Given the description of an element on the screen output the (x, y) to click on. 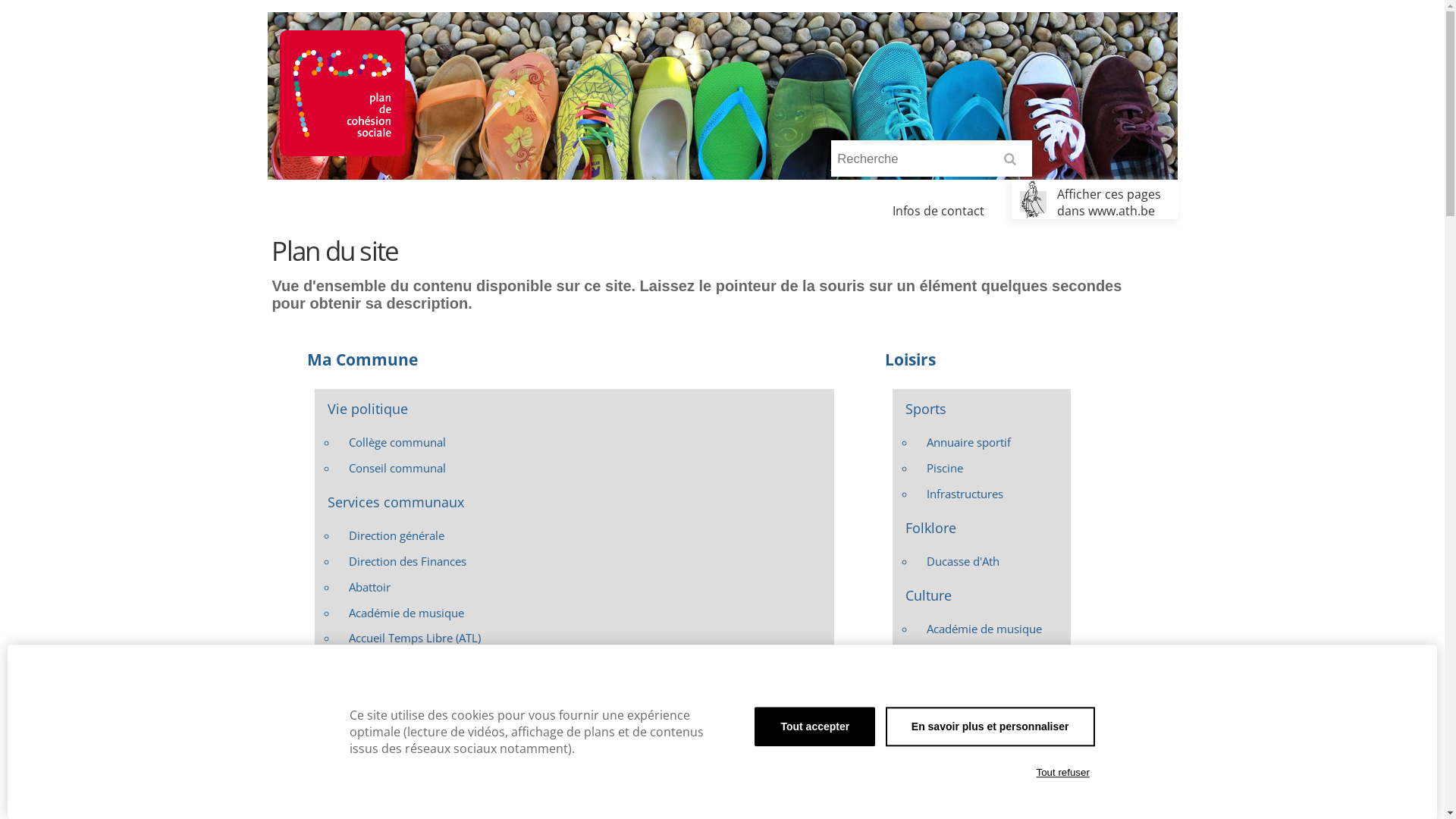
Accueil Temps Libre (ATL) Element type: text (585, 638)
Tout accepter Element type: text (814, 726)
Piscine Element type: text (992, 467)
Ducasse d'Ath Element type: text (992, 560)
Abattoir Element type: text (585, 586)
Annuaire sportif Element type: text (992, 442)
Folklore Element type: text (980, 527)
En savoir plus et personnaliser Element type: text (990, 726)
Culture Element type: text (980, 594)
Infos de contact Element type: text (938, 210)
Sports Element type: text (980, 408)
Services communaux Element type: text (573, 501)
Vie politique Element type: text (573, 408)
Assurances Element type: text (585, 740)
Conseil communal Element type: text (585, 467)
Rechercher Element type: text (1013, 163)
Tout refuser Element type: text (1063, 772)
Infrastructures Element type: text (992, 493)
Maison Culturelle Element type: text (992, 756)
Loisirs Element type: text (968, 359)
Ma Commune Element type: text (560, 359)
Afficher ces pages dans www.ath.be Element type: text (1094, 199)
Direction des Finances Element type: text (585, 560)
Action jeunesse info (AJI) Element type: text (585, 663)
Recherche Element type: hover (931, 158)
Archives Element type: text (585, 714)
